Given the description of an element on the screen output the (x, y) to click on. 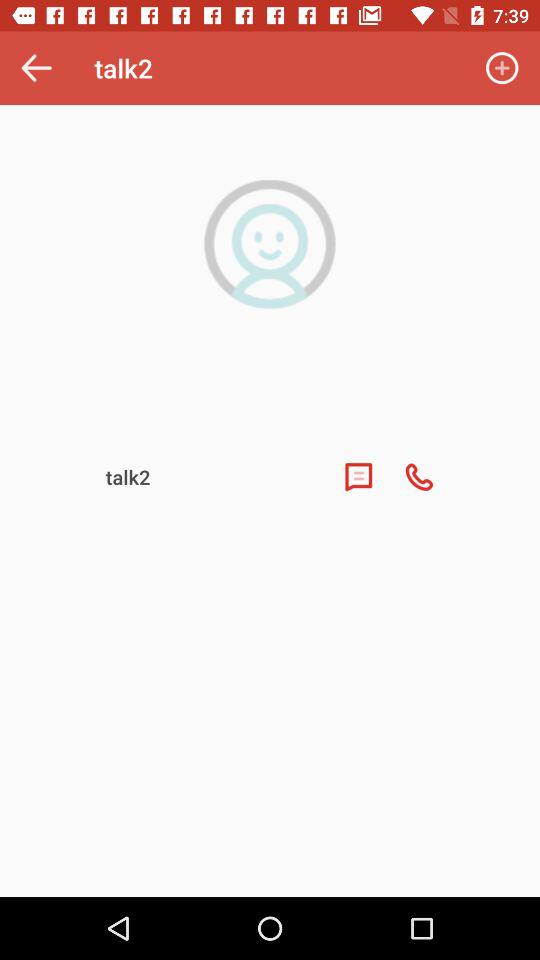
click the icon to the left of talk2 (36, 68)
